Given the description of an element on the screen output the (x, y) to click on. 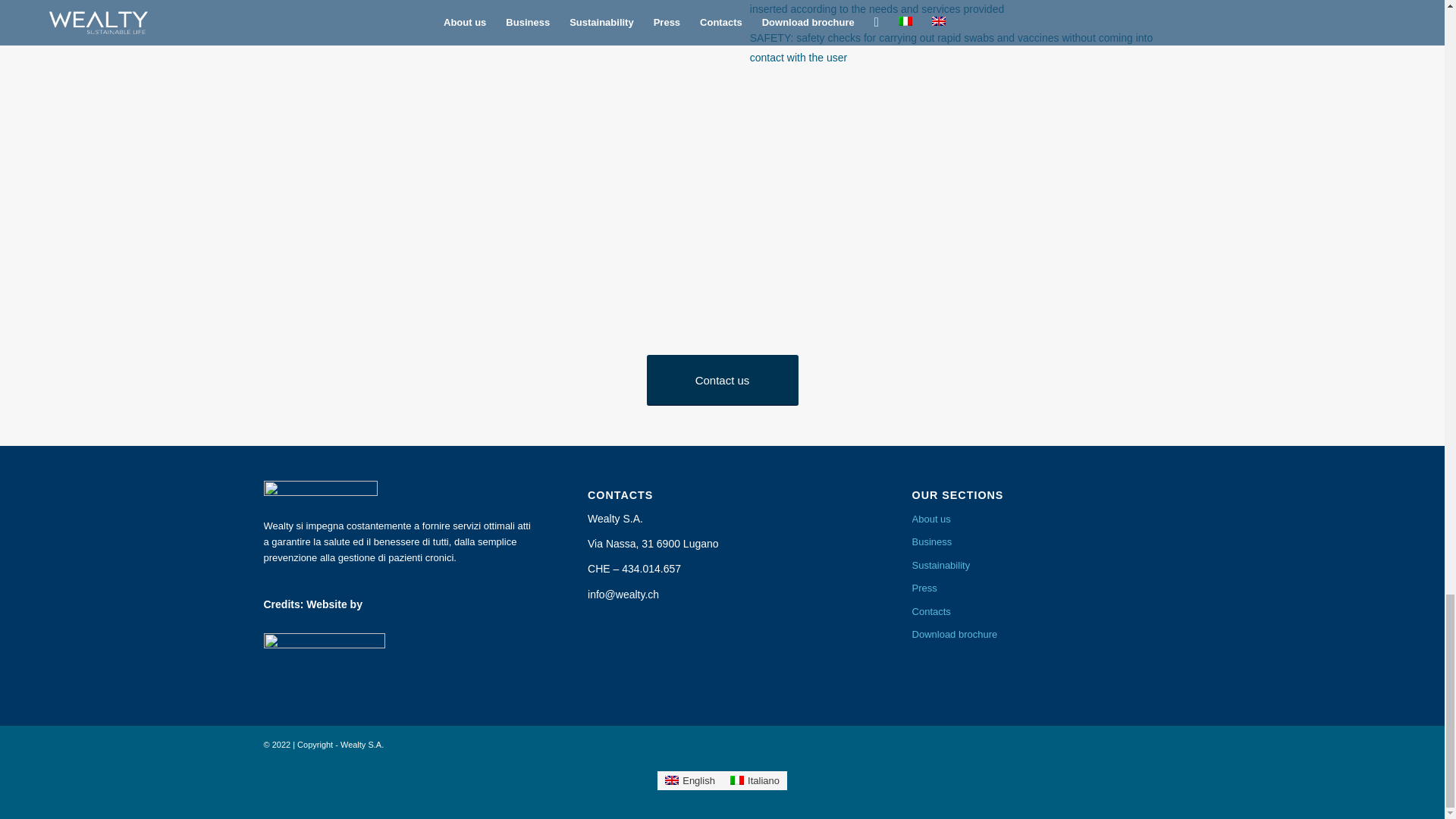
English (690, 780)
Immagine3 (479, 138)
Twitter (1146, 744)
Contact us (721, 379)
Italiano (754, 780)
Download brochure (1046, 634)
About us (1046, 518)
Dribbble (1169, 744)
Business (1046, 541)
Press (1046, 588)
